Given the description of an element on the screen output the (x, y) to click on. 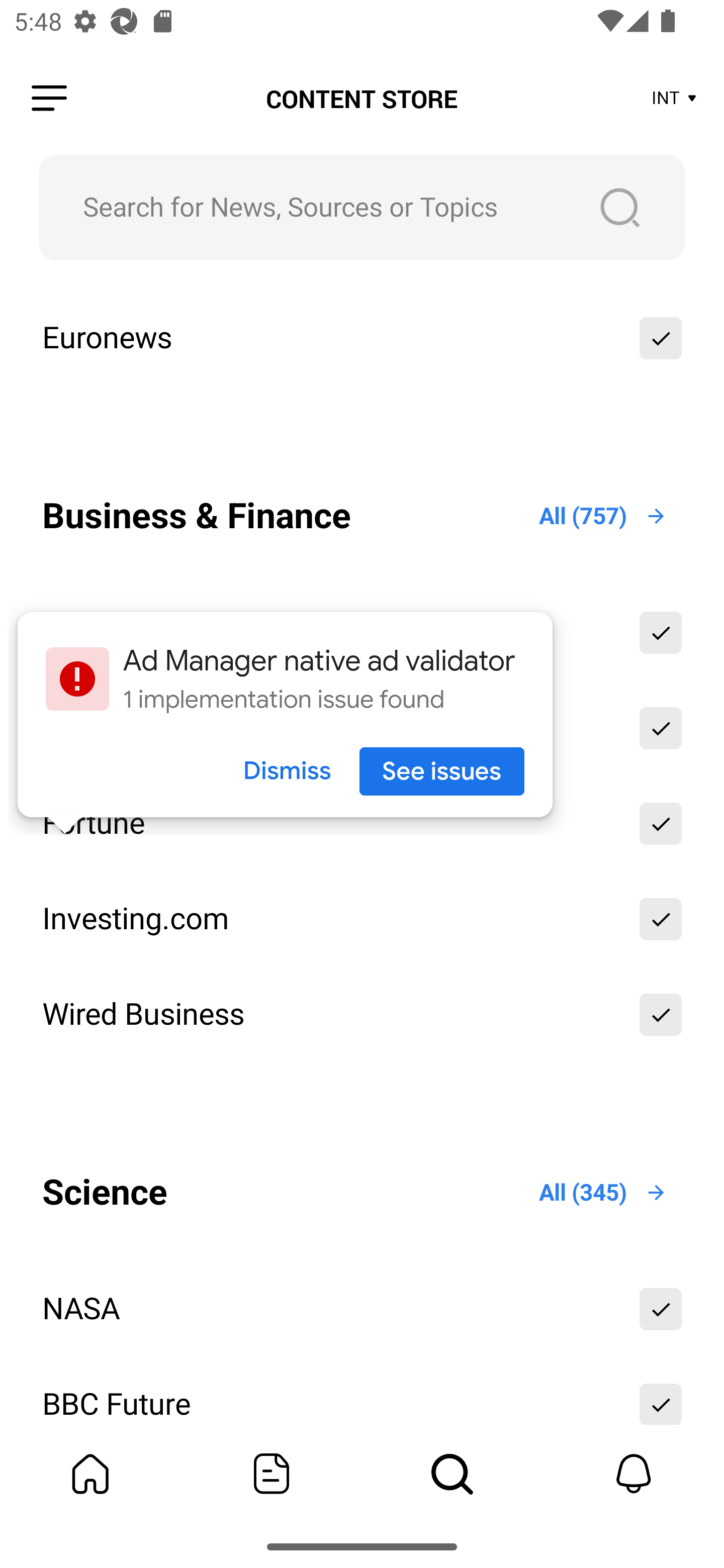
INT Store Area (674, 98)
Leading Icon (49, 98)
Search for News, Sources or Topics Search Button (361, 207)
Euronews Add To My Bundle (361, 338)
Add To My Bundle (660, 338)
All (757) Open All Icon (603, 515)
Add To My Bundle (660, 632)
Add To My Bundle (660, 727)
Add To My Bundle (660, 822)
Investing.com Add To My Bundle (361, 918)
Add To My Bundle (660, 918)
Wired Business Add To My Bundle (361, 1014)
Add To My Bundle (660, 1014)
All (345) Open All Icon (603, 1192)
NASA Add To My Bundle (361, 1308)
Add To My Bundle (660, 1308)
BBC Future Add To My Bundle (361, 1393)
Add To My Bundle (660, 1393)
My Bundle (90, 1473)
Featured (271, 1473)
Notifications (633, 1473)
